Given the description of an element on the screen output the (x, y) to click on. 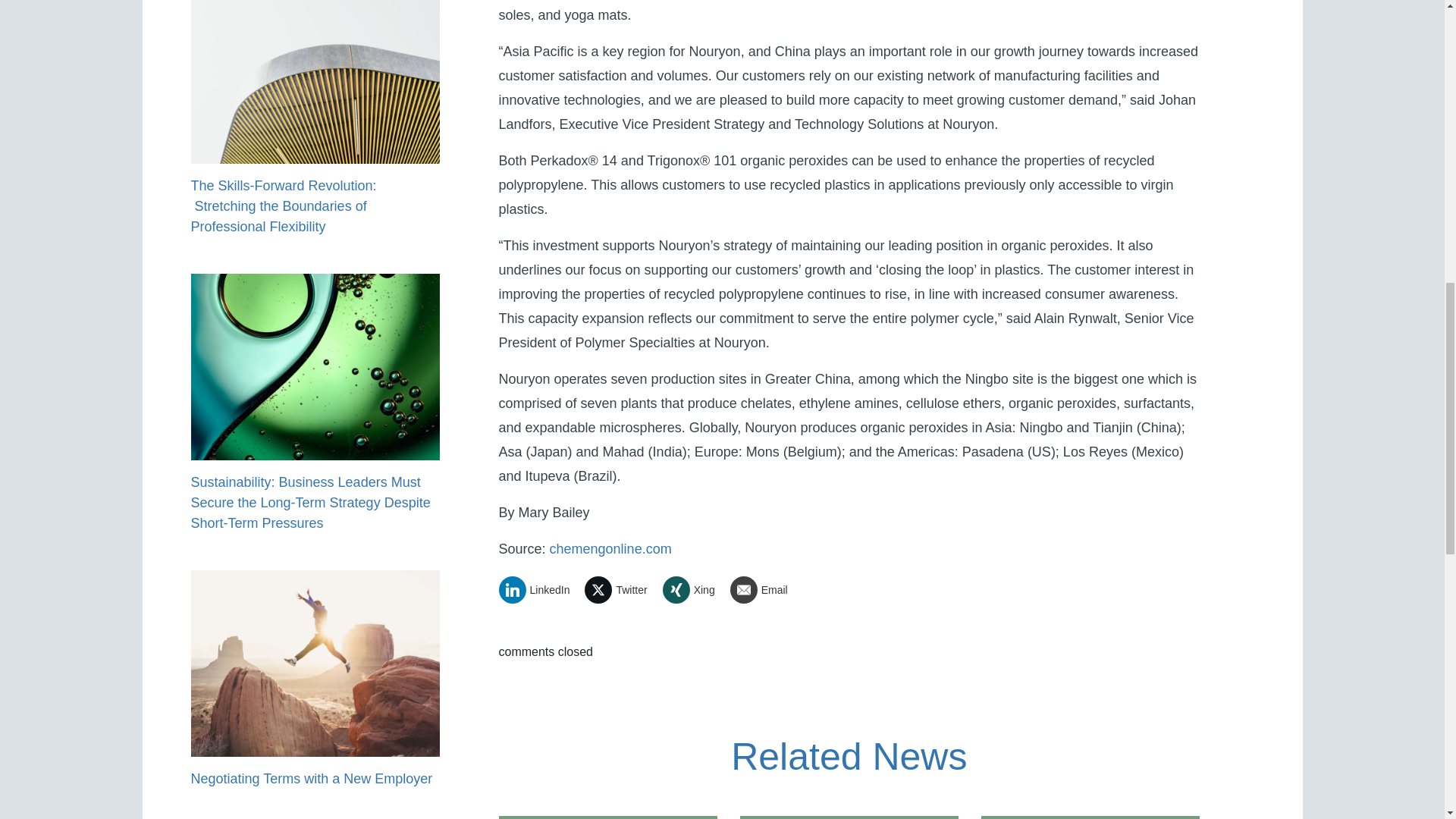
Share on Twitter (621, 589)
LinkedIn (539, 589)
chemengonline.com (610, 548)
Negotiating Terms with a New Employer (311, 778)
Share on Xing (694, 589)
Share on LinkedIn (539, 589)
Share on Email (764, 589)
